Given the description of an element on the screen output the (x, y) to click on. 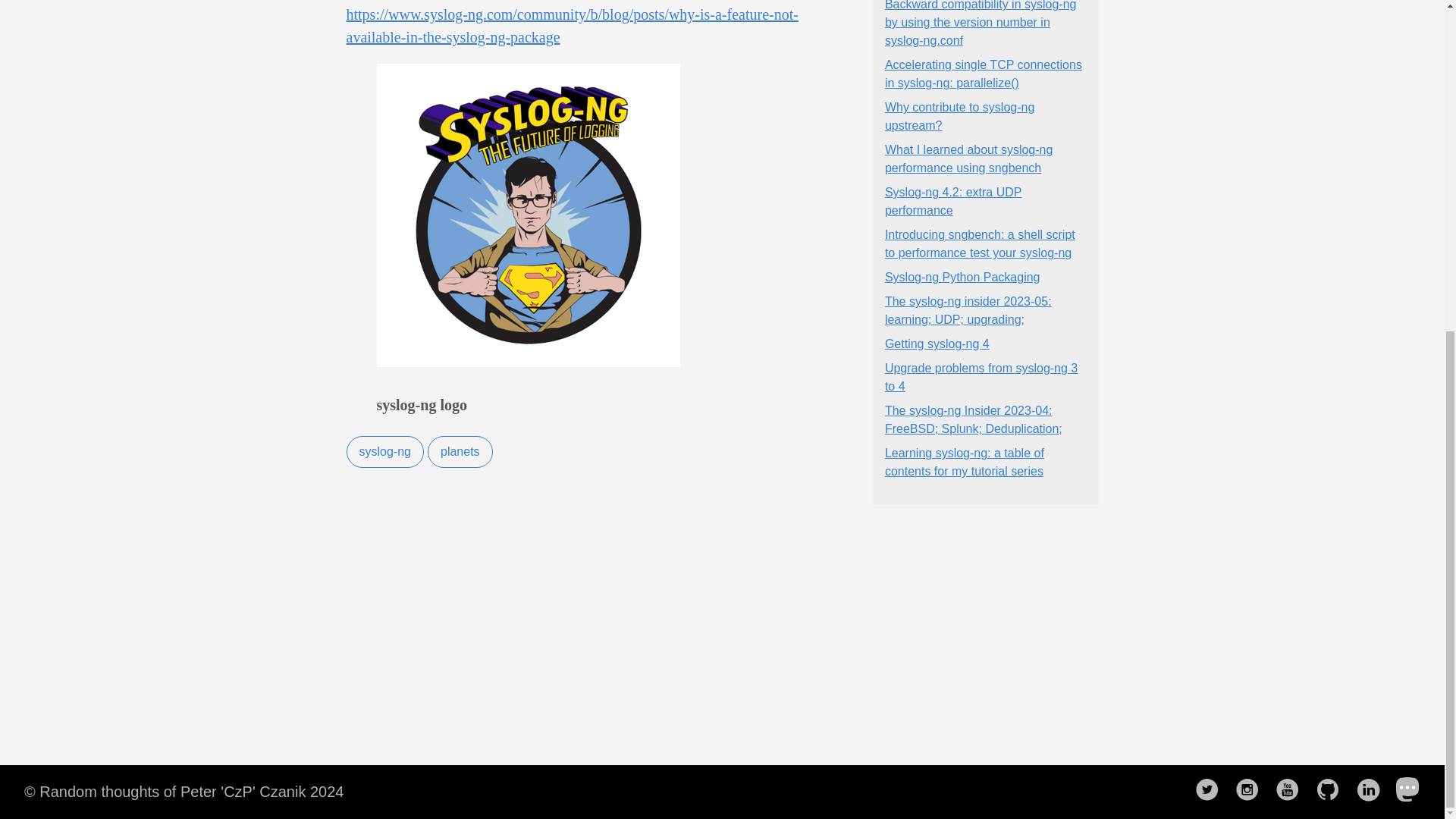
Syslog-ng 4.2: extra UDP performance (953, 201)
Why contribute to syslog-ng upstream? (959, 115)
Upgrade problems from syslog-ng 3 to 4 (981, 377)
Twitter link (1211, 790)
YouTube link (1291, 790)
GitHub link (1332, 790)
LinkedIn link (1372, 790)
Mastodon link (1412, 790)
What I learned about syslog-ng performance using sngbench (968, 158)
planets (460, 451)
The syslog-ng insider 2023-05: learning; UDP; upgrading; (968, 309)
Getting syslog-ng 4 (937, 343)
